Given the description of an element on the screen output the (x, y) to click on. 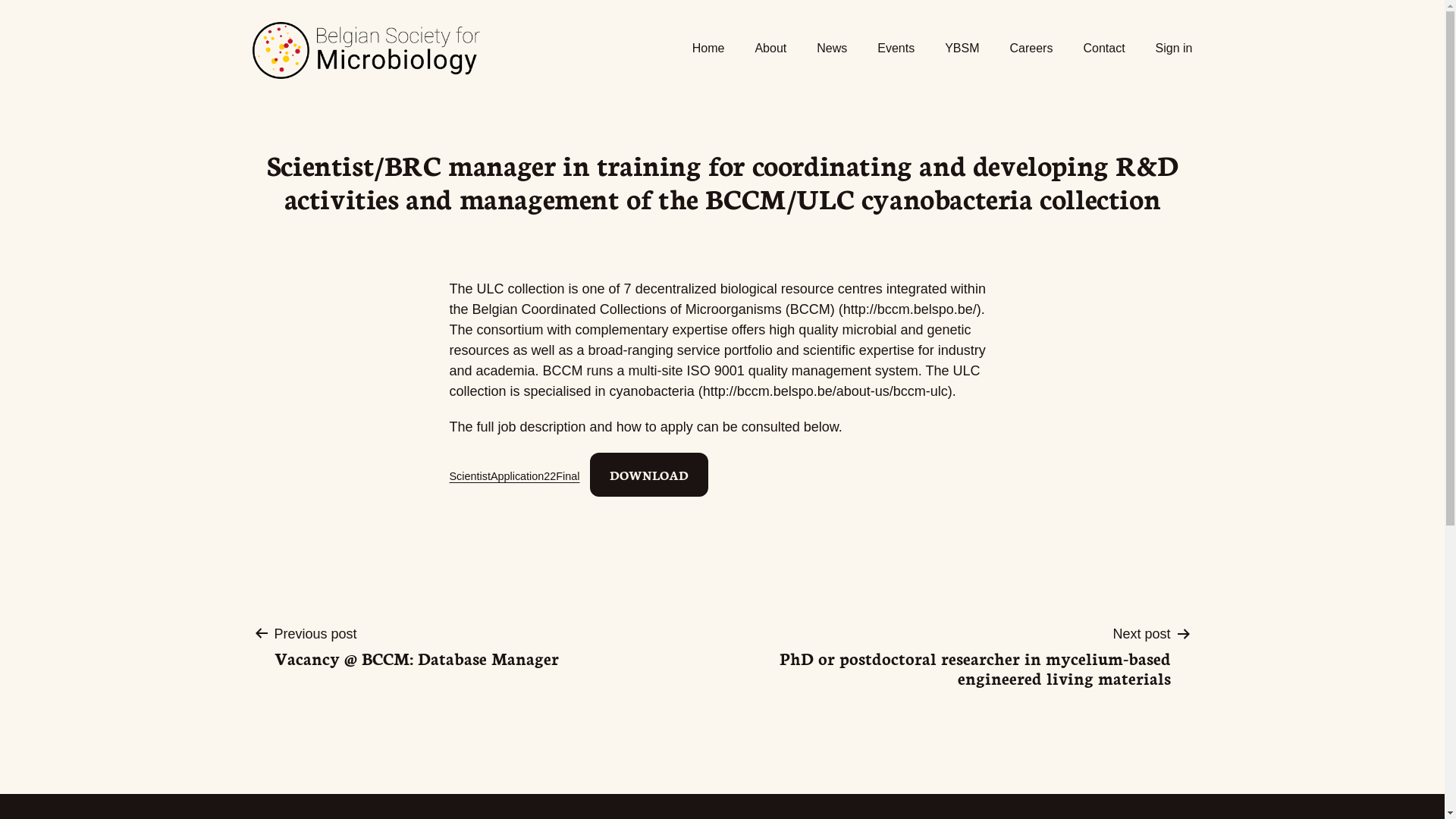
Events Element type: text (895, 48)
Home Element type: text (708, 48)
Previous post
Vacancy @ BCCM: Database Manager Element type: text (415, 646)
About Element type: text (770, 48)
News Element type: text (831, 48)
Sign in Element type: text (1174, 48)
DOWNLOAD Element type: text (648, 474)
ScientistApplication22Final Element type: text (513, 476)
Contact Element type: text (1103, 48)
Careers Element type: text (1031, 48)
YBSM Element type: text (961, 48)
